Given the description of an element on the screen output the (x, y) to click on. 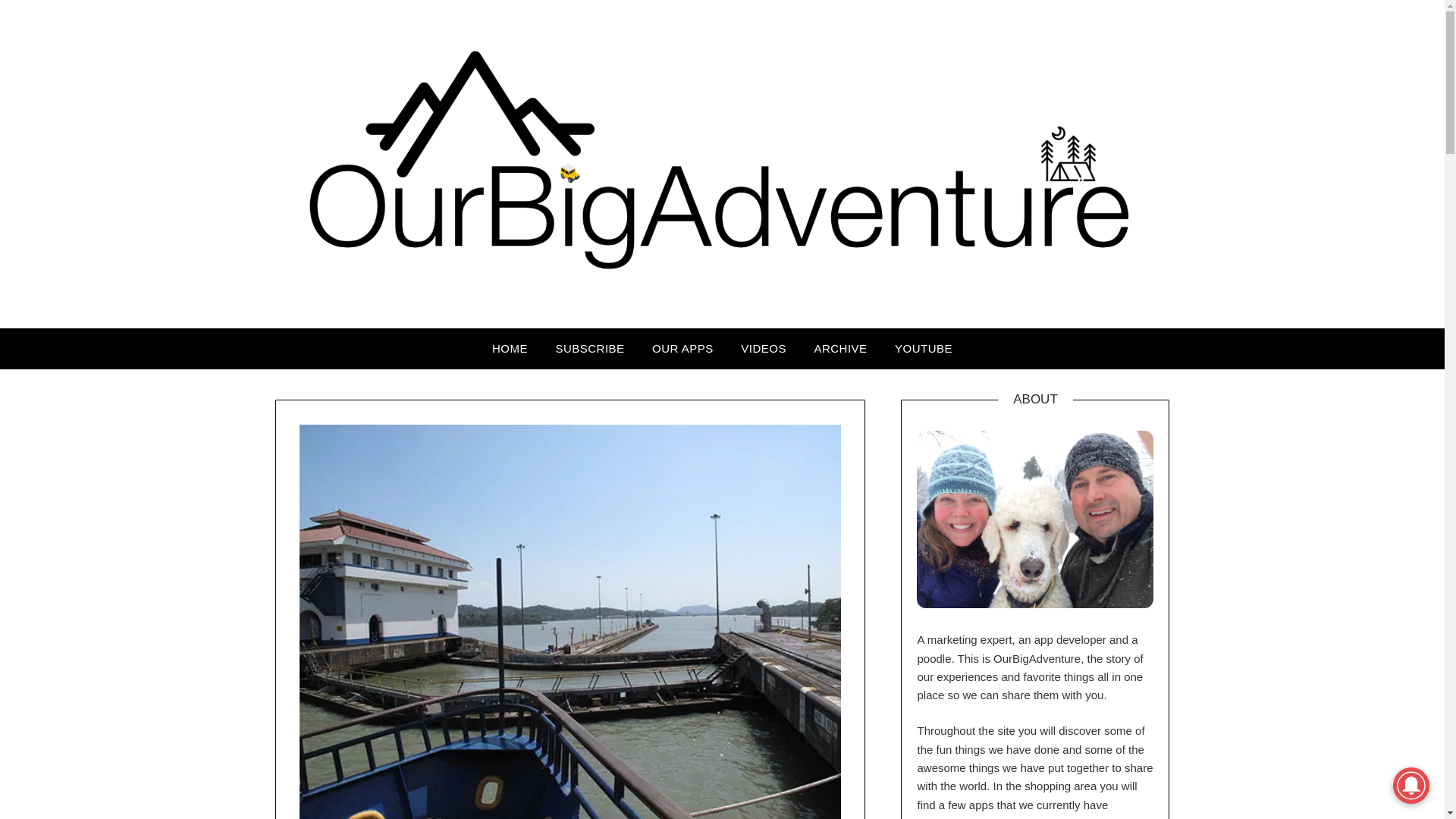
ARCHIVE (840, 348)
VIDEOS (763, 348)
SUBSCRIBE (589, 348)
OUR APPS (682, 348)
YOUTUBE (922, 348)
HOME (510, 348)
Search (38, 22)
